Given the description of an element on the screen output the (x, y) to click on. 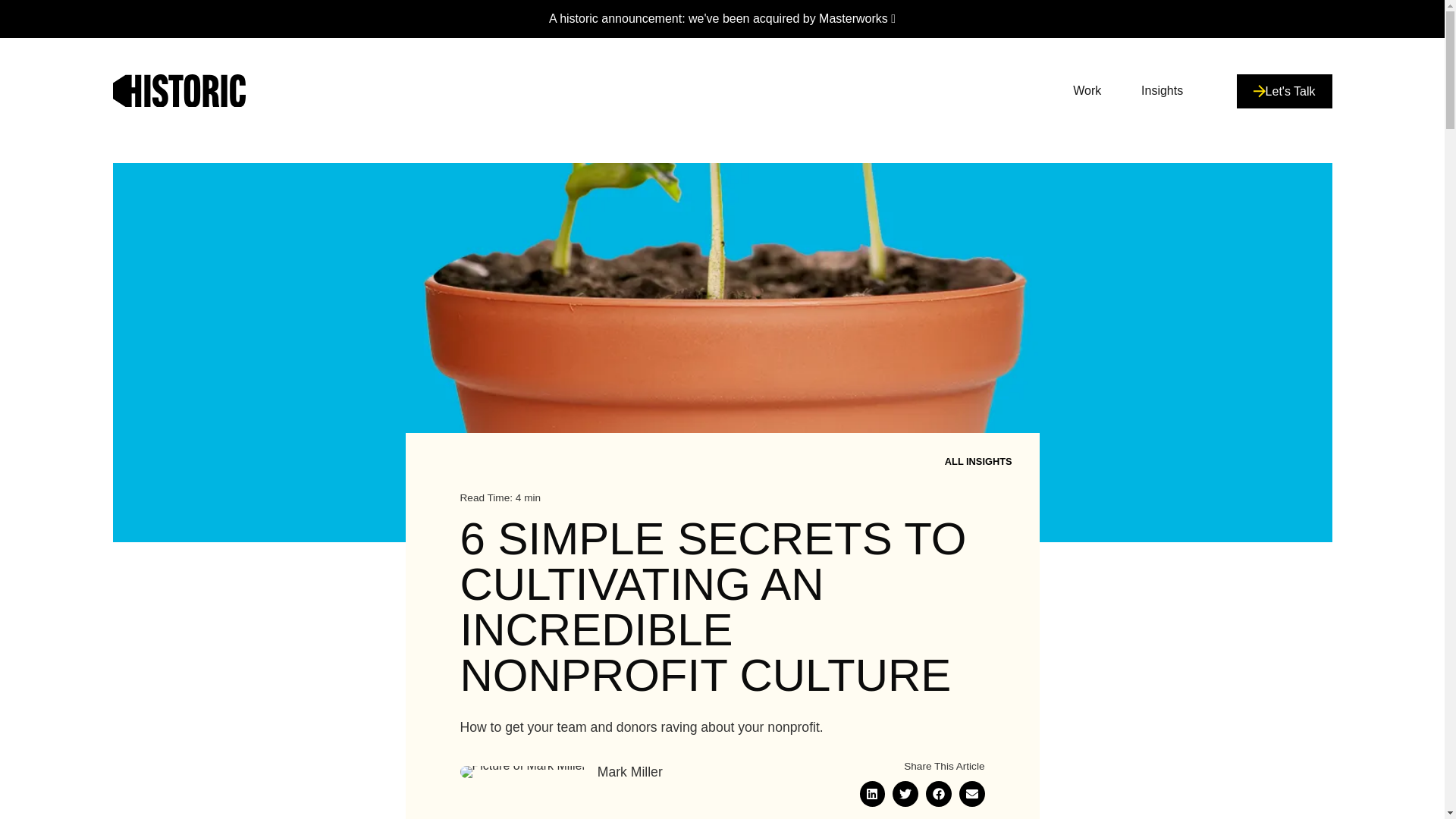
ALL INSIGHTS (977, 461)
Insights (1162, 90)
Let's Talk (1284, 91)
Work (1087, 90)
